Given the description of an element on the screen output the (x, y) to click on. 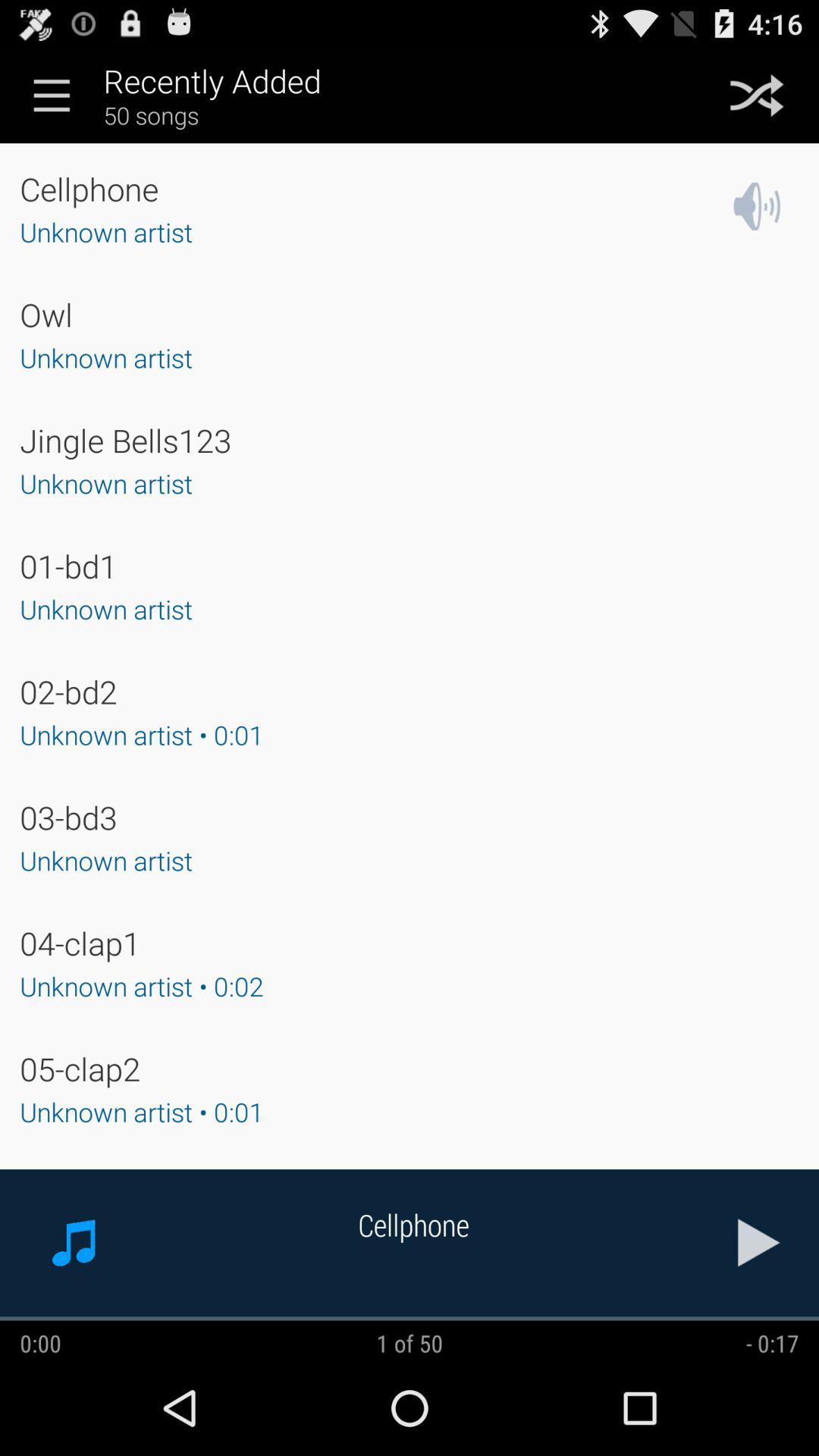
turn off icon above unknown artist icon (125, 439)
